Given the description of an element on the screen output the (x, y) to click on. 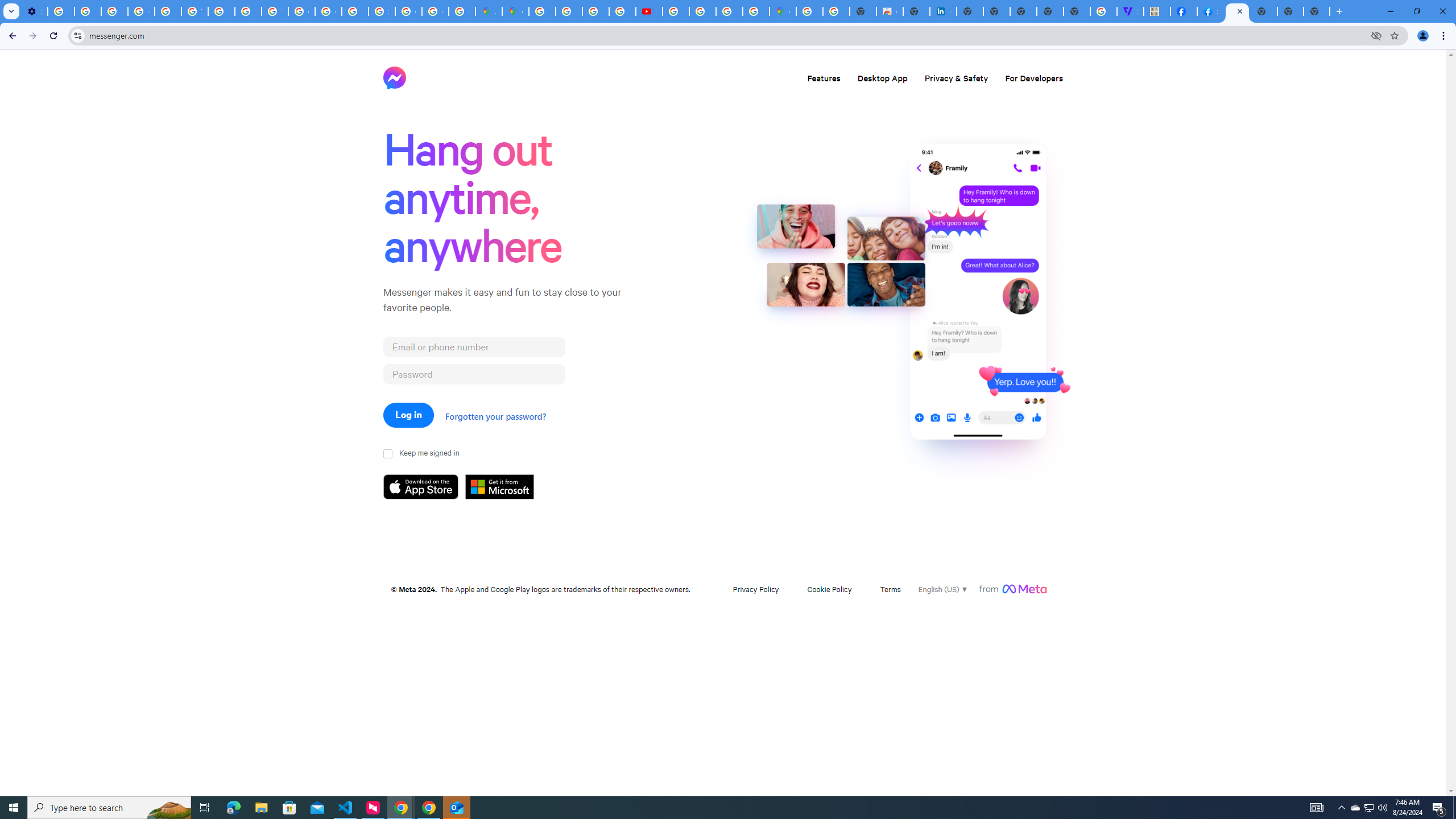
Cookie Policy | LinkedIn (943, 11)
YouTube (194, 11)
Google Account Help (141, 11)
Privacy Help Center - Policies Help (595, 11)
Miley Cyrus | Facebook (1183, 11)
For Developers (1033, 77)
Messenger (1236, 11)
Privacy Policy (755, 588)
